Given the description of an element on the screen output the (x, y) to click on. 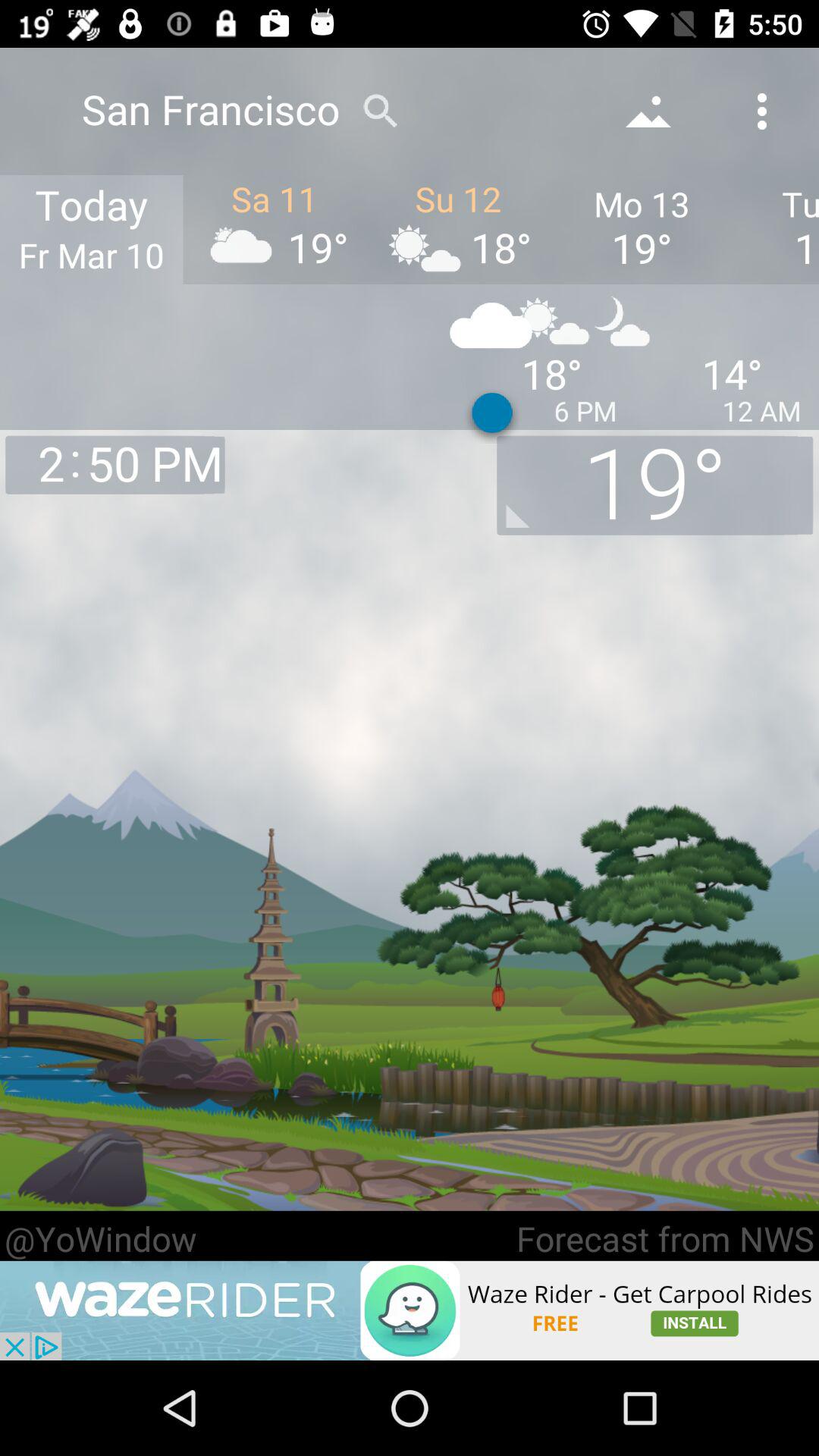
advertisement option (409, 1310)
